Given the description of an element on the screen output the (x, y) to click on. 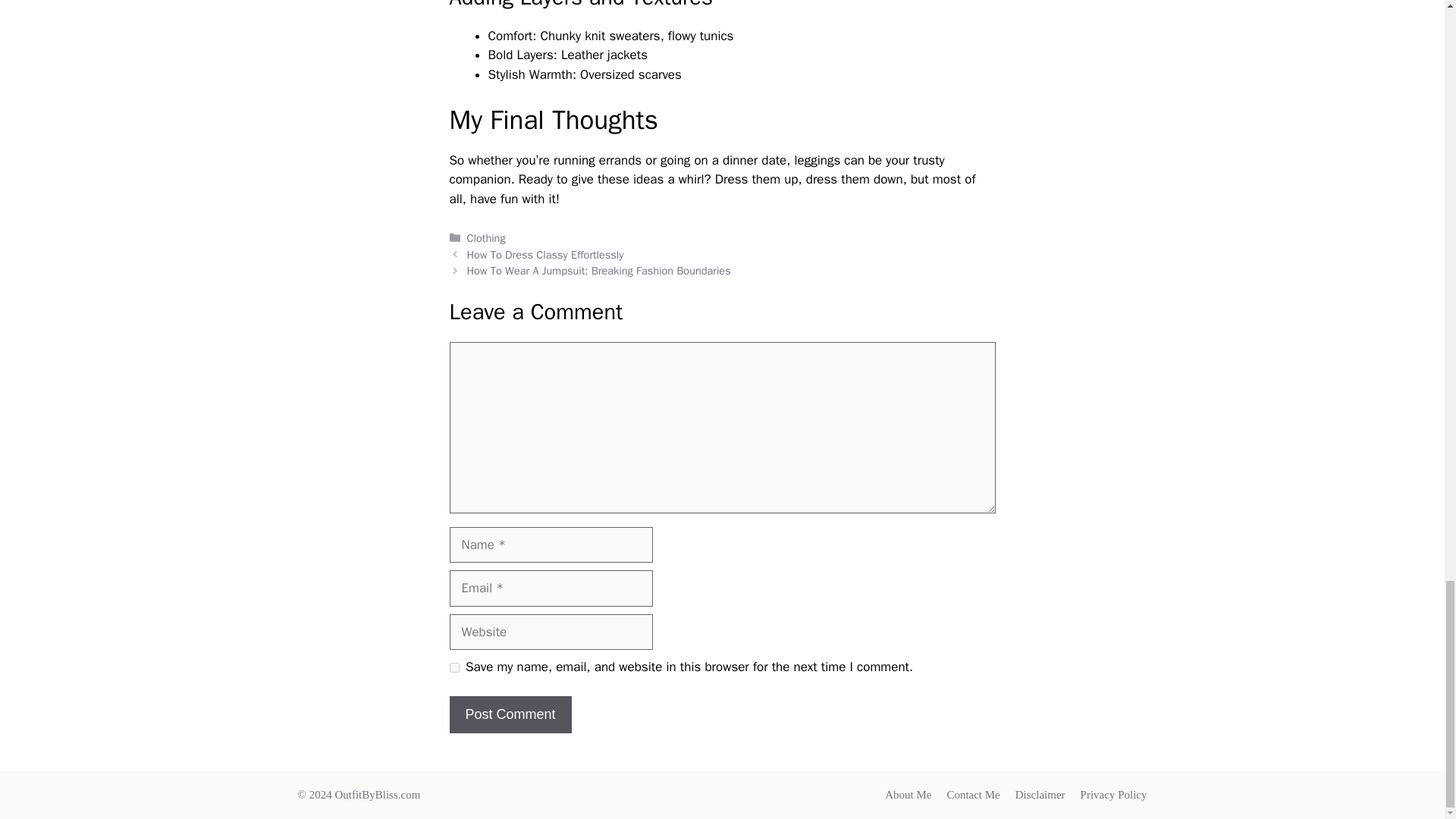
Clothing (486, 237)
How To Dress Classy Effortlessly (545, 254)
Post Comment (509, 714)
Disclaimer (1039, 794)
Privacy Policy (1113, 794)
Contact Me (972, 794)
How To Wear A Jumpsuit: Breaking Fashion Boundaries (598, 270)
Post Comment (509, 714)
About Me (908, 794)
yes (453, 667)
